Given the description of an element on the screen output the (x, y) to click on. 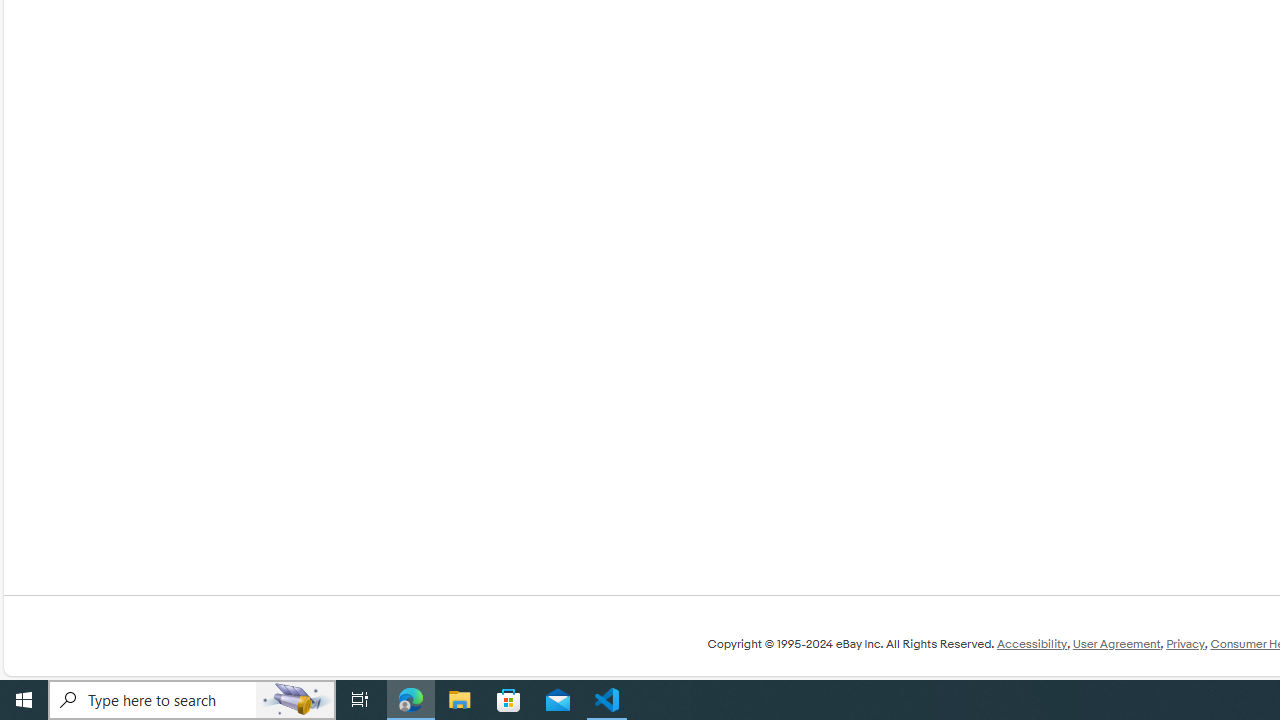
Accessibility (1031, 644)
User Agreement (1116, 644)
